Given the description of an element on the screen output the (x, y) to click on. 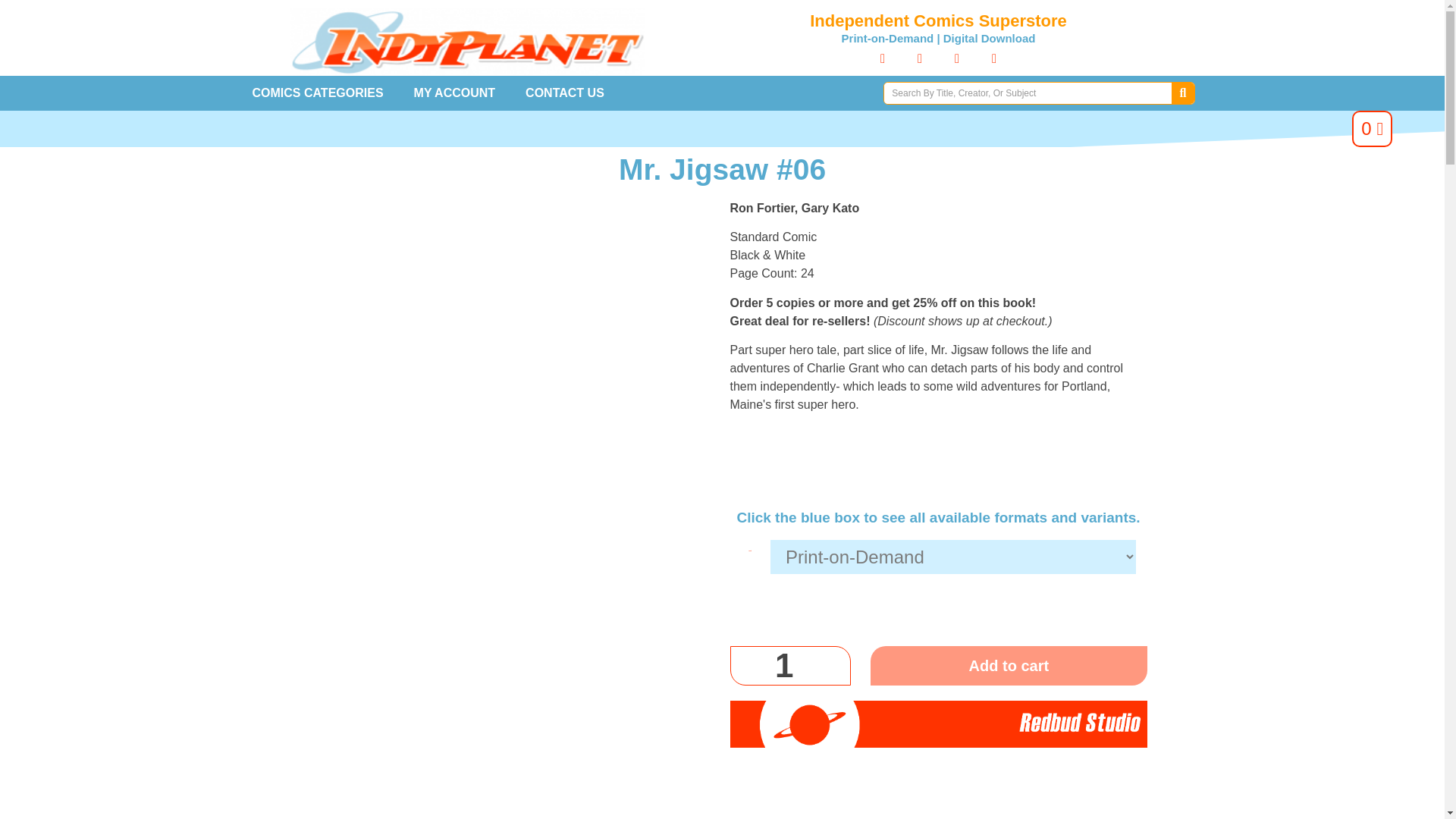
COMICS CATEGORIES (316, 92)
0 (1371, 128)
1 (789, 665)
MY ACCOUNT (454, 92)
CONTACT US (565, 92)
Add to cart (1008, 665)
